Given the description of an element on the screen output the (x, y) to click on. 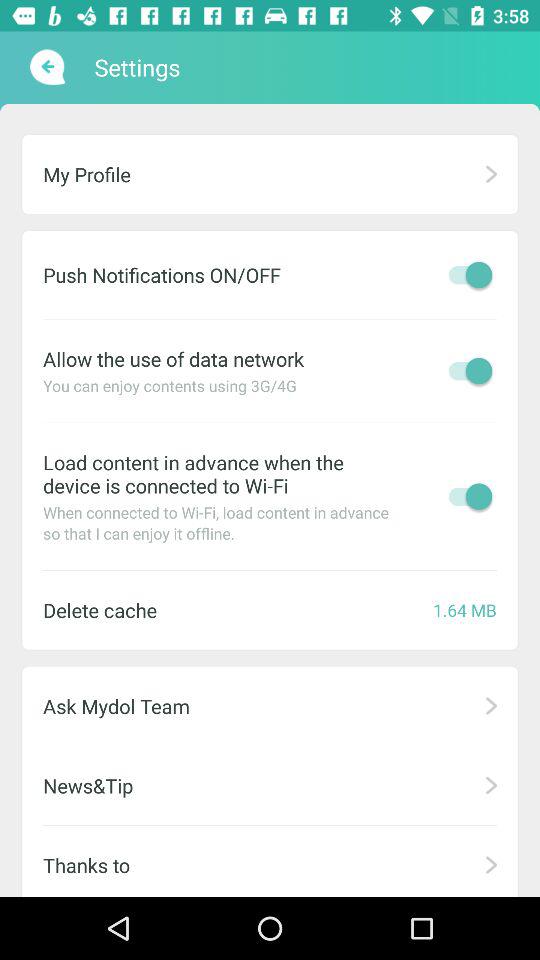
select icon above the my profile item (45, 67)
